Given the description of an element on the screen output the (x, y) to click on. 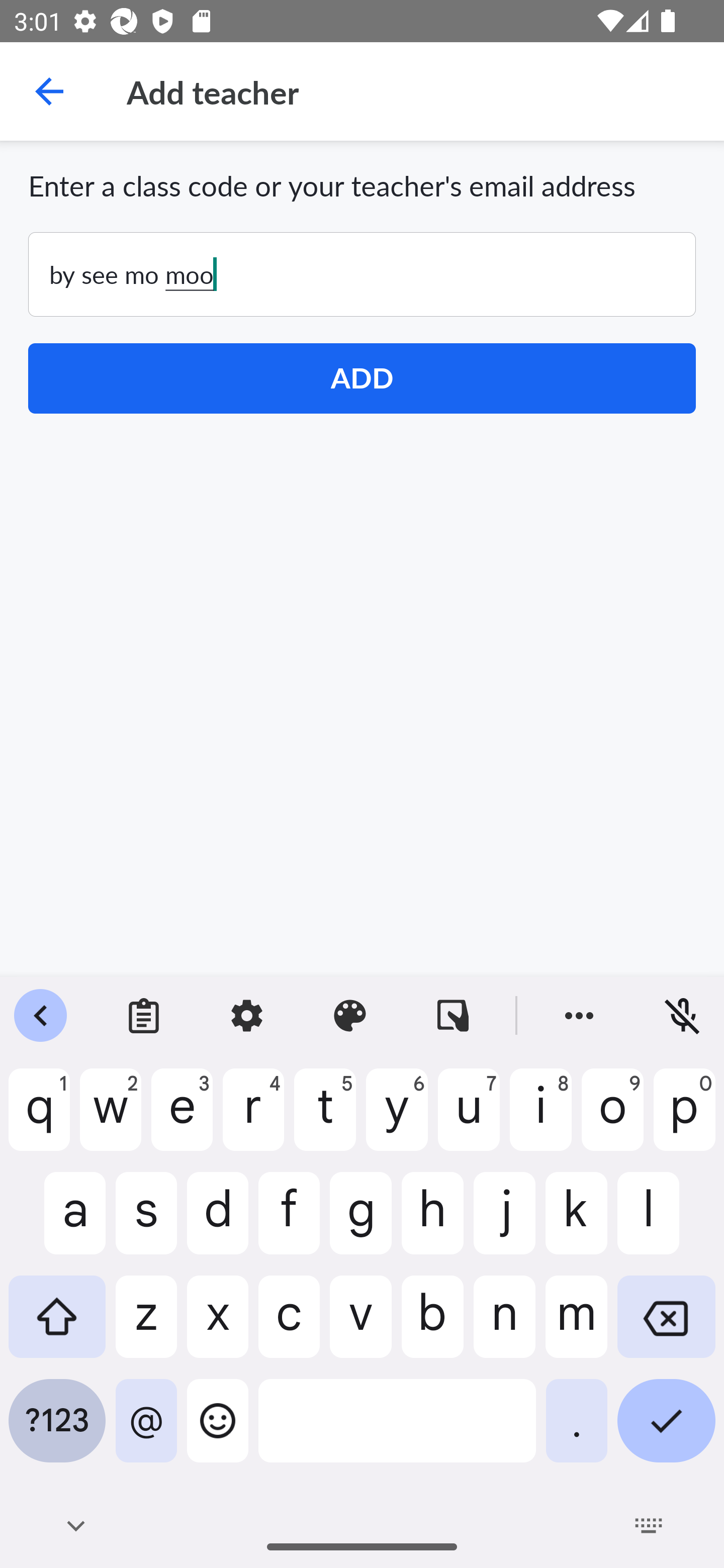
Navigate up (49, 91)
by see mo moo e.g. ABC123 or teacher@example.com (361, 274)
ADD (361, 378)
